Given the description of an element on the screen output the (x, y) to click on. 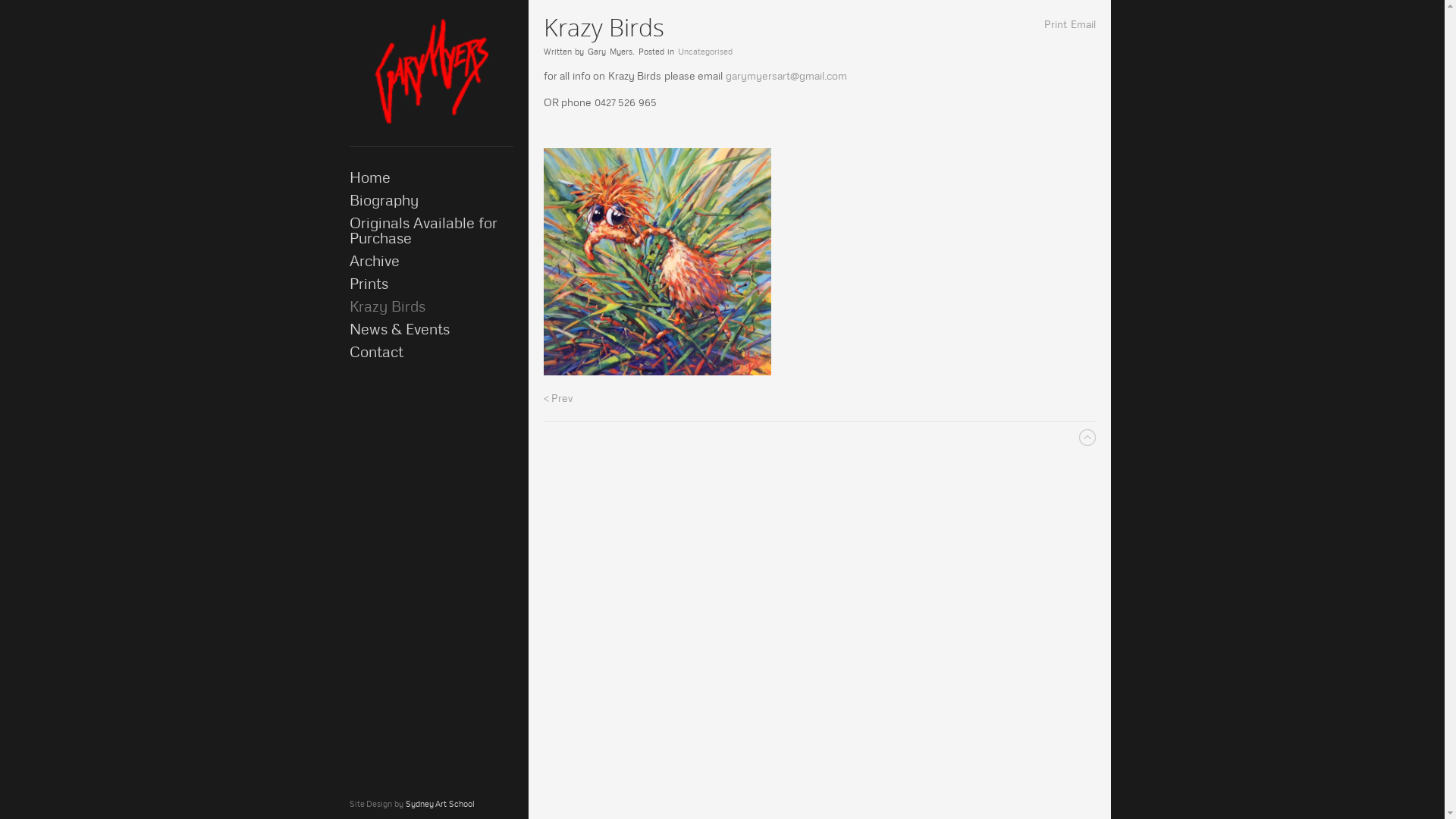
Home Element type: text (430, 177)
Uncategorised Element type: text (704, 51)
Originals Available for Purchase Element type: text (430, 230)
Print Element type: text (1054, 24)
Sydney Art School Element type: text (439, 803)
Biography Element type: text (430, 199)
News & Events Element type: text (430, 328)
Krazy Birds Element type: text (430, 305)
Archive Element type: text (430, 260)
Contact Element type: text (430, 351)
Email Element type: text (1082, 24)
garymyersart@gmail.com Element type: text (785, 75)
< Prev Element type: text (557, 397)
Prints Element type: text (430, 283)
